Given the description of an element on the screen output the (x, y) to click on. 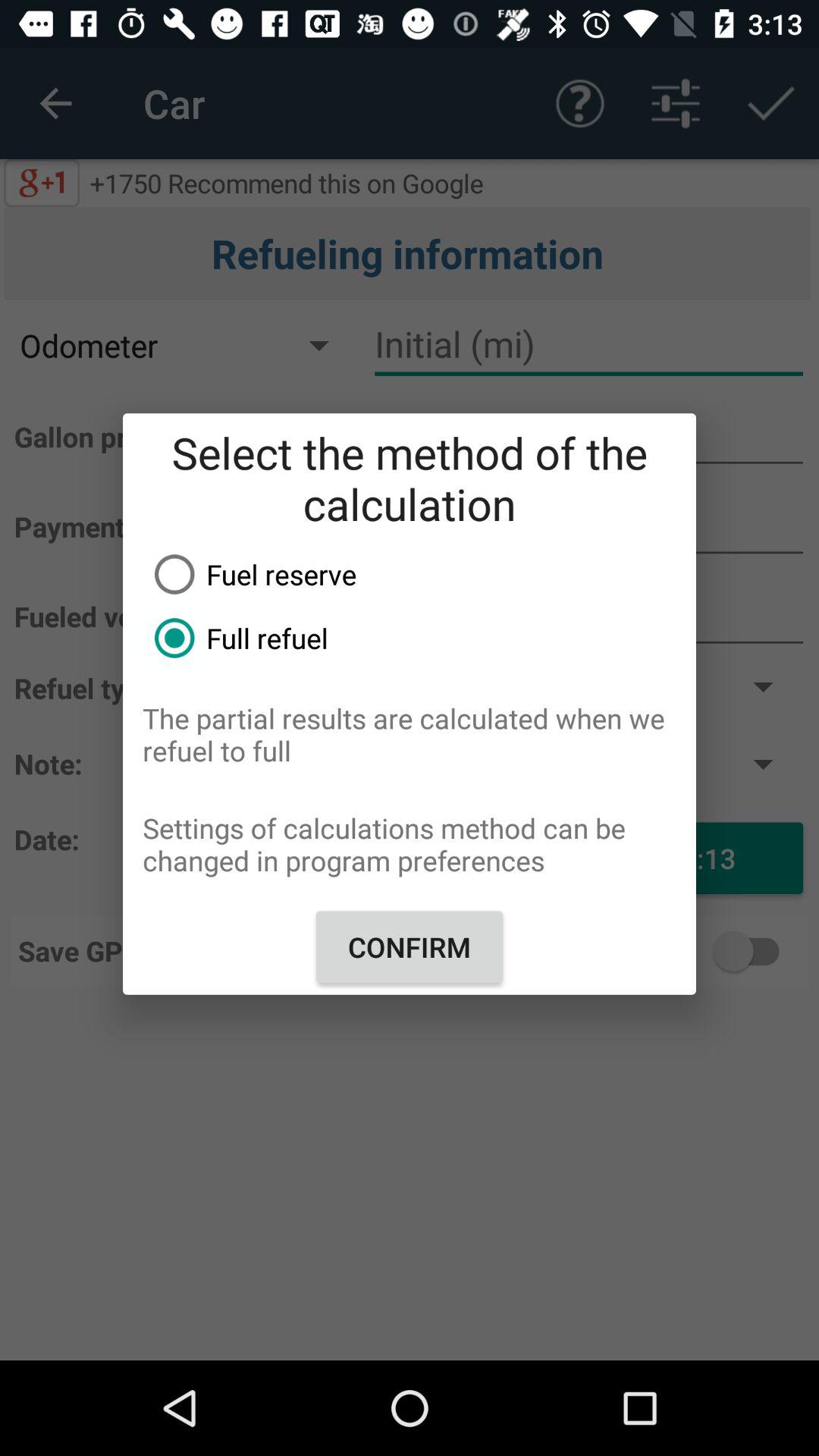
choose the item below the settings of calculations item (409, 946)
